Given the description of an element on the screen output the (x, y) to click on. 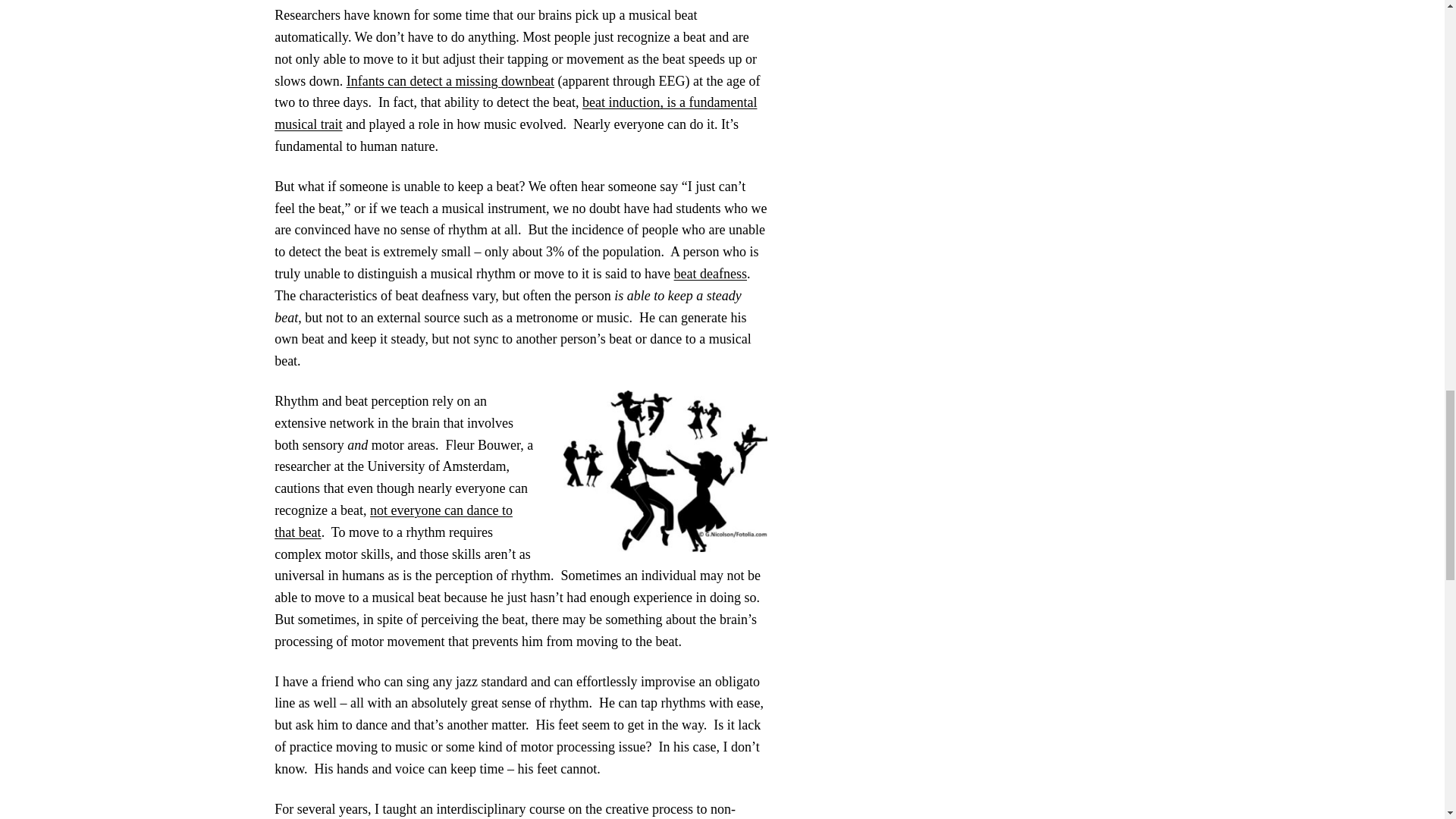
beat induction, is a fundamental musical trait (516, 113)
not everyone can dance to that beat (393, 520)
Infants can detect a missing downbeat (450, 80)
beat deafness (710, 273)
